Given the description of an element on the screen output the (x, y) to click on. 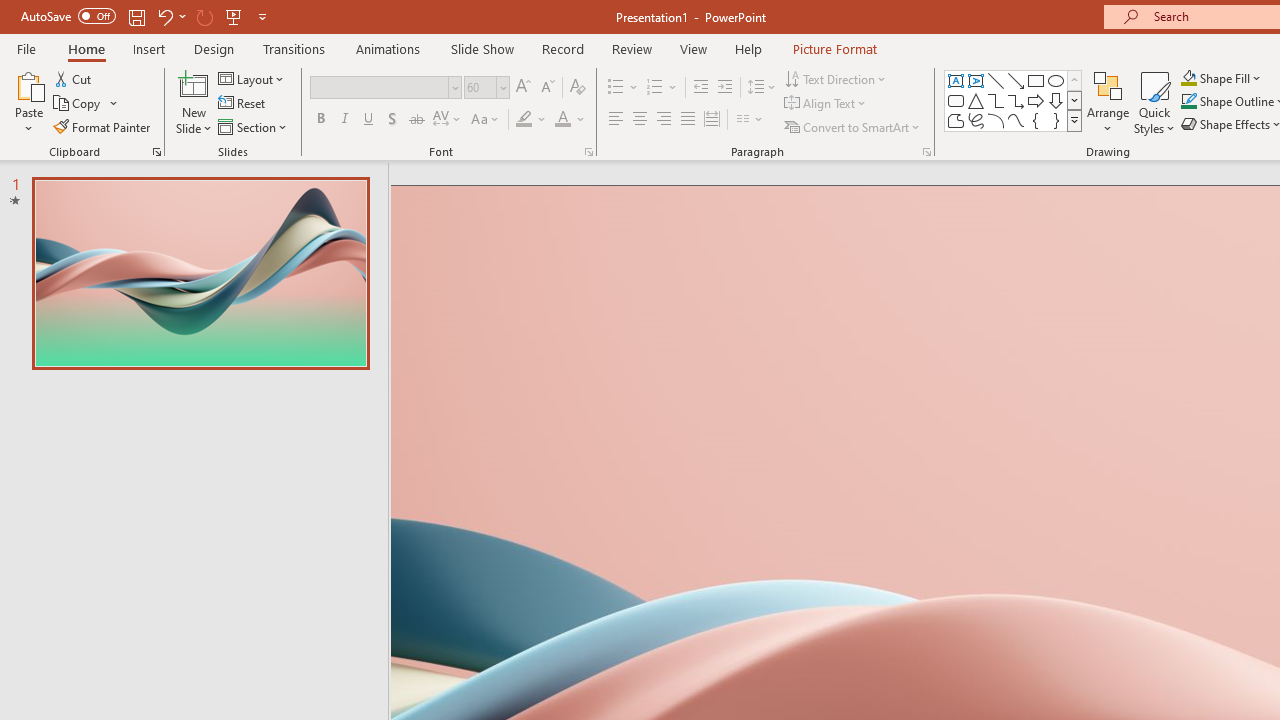
Picture Format (834, 48)
